Given the description of an element on the screen output the (x, y) to click on. 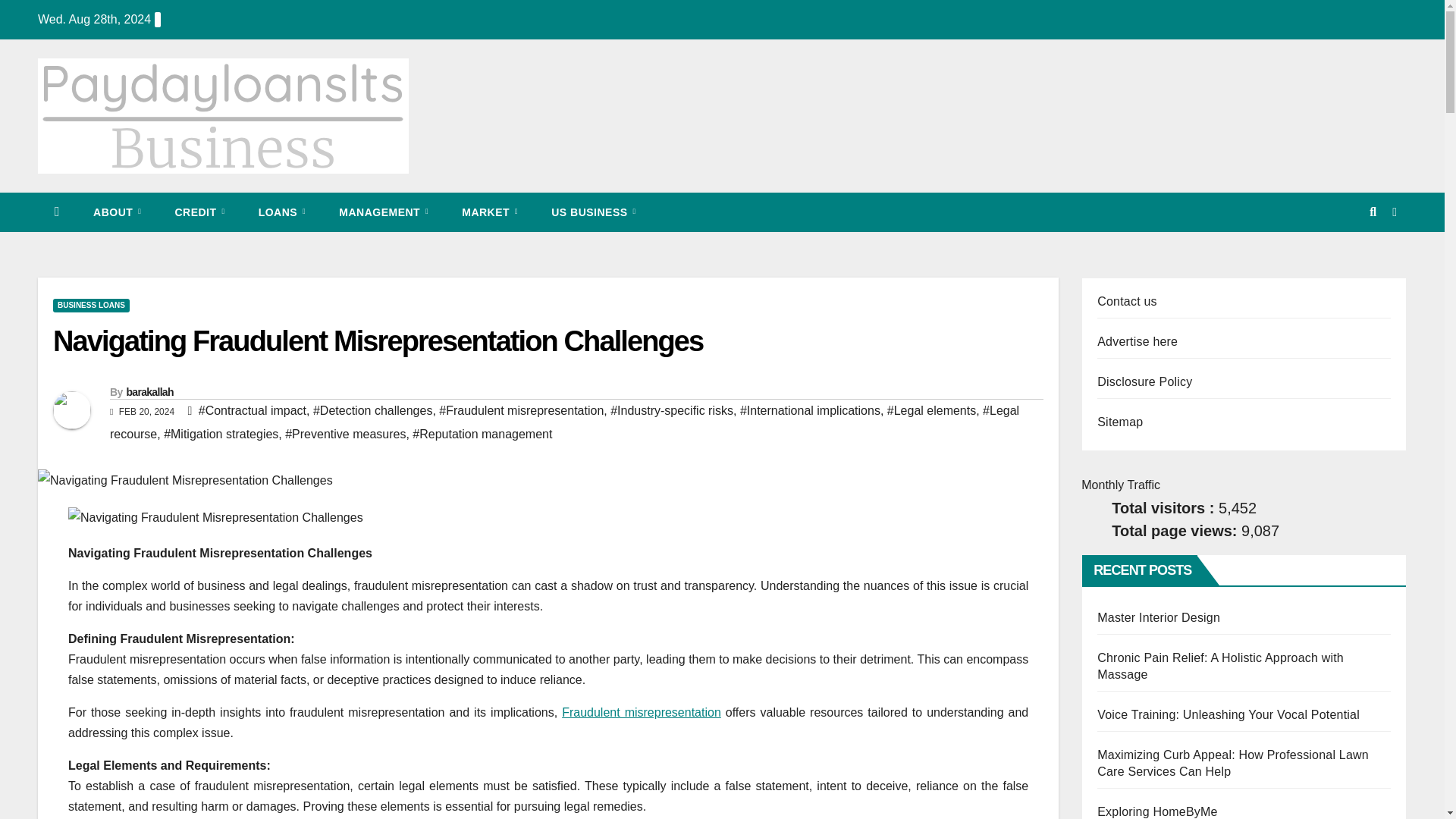
Management (383, 211)
Loans (282, 211)
LOANS (282, 211)
Credit (199, 211)
MANAGEMENT (383, 211)
About (117, 211)
ABOUT (117, 211)
CREDIT (199, 211)
MARKET (489, 211)
US BUSINESS (593, 211)
